Given the description of an element on the screen output the (x, y) to click on. 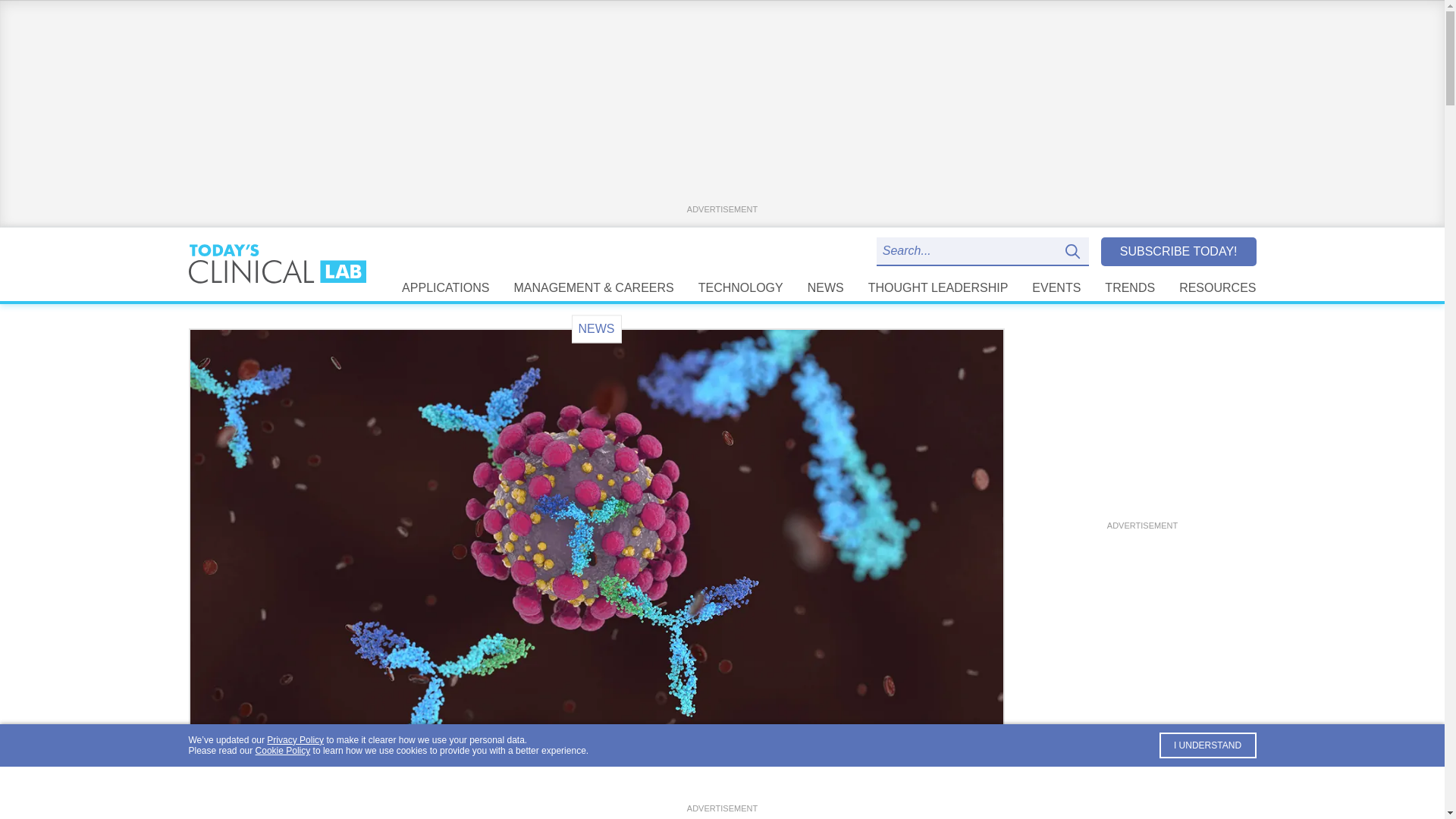
TECHNOLOGY (740, 287)
3rd party ad content (722, 783)
APPLICATIONS (445, 287)
Search (1075, 251)
SUBSCRIBE TODAY! (1178, 251)
3rd party ad content (1141, 422)
